Given the description of an element on the screen output the (x, y) to click on. 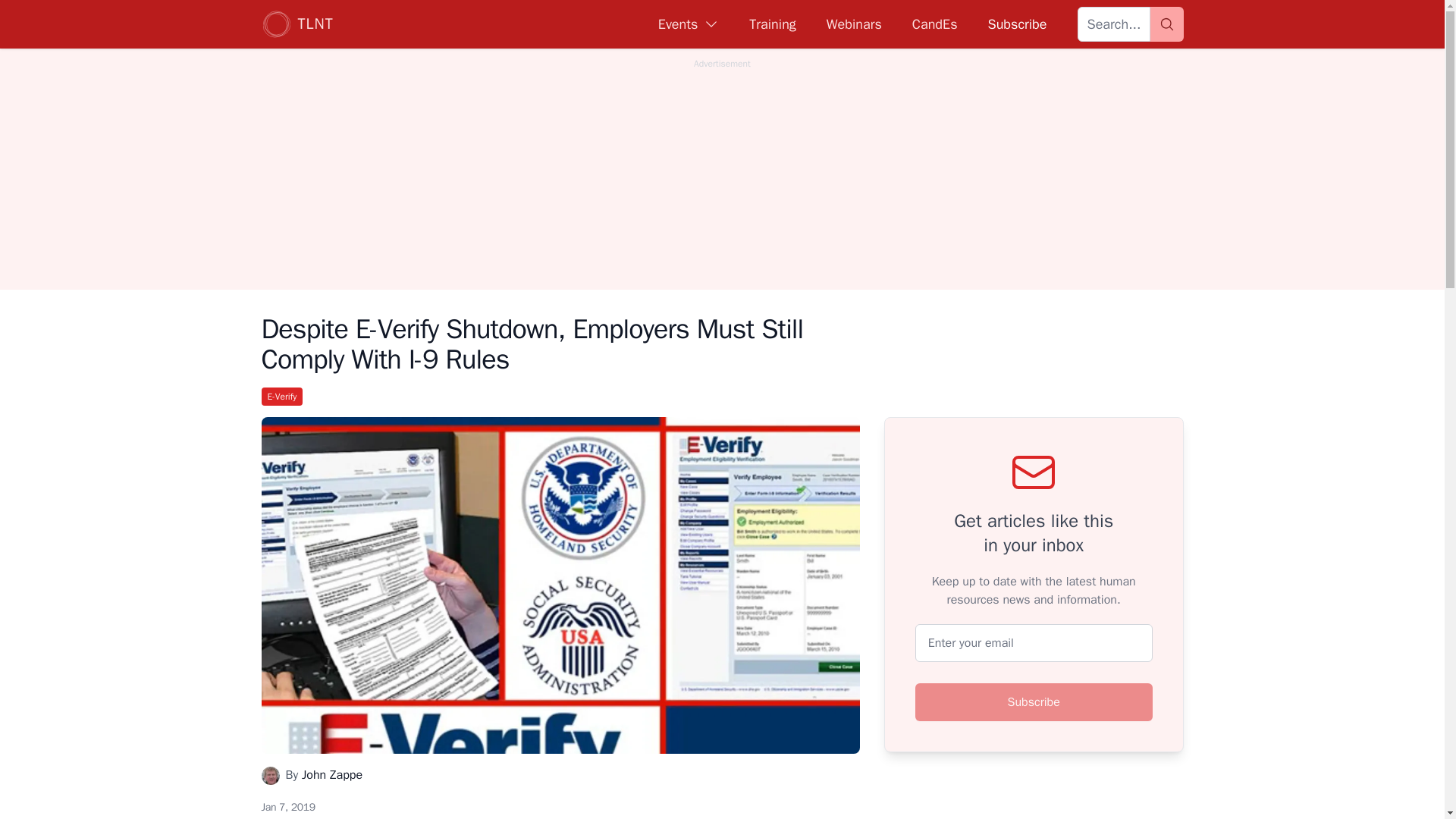
John Zappe (331, 774)
TLNT (296, 24)
Training (771, 24)
Webinars (854, 24)
E-Verify (281, 396)
Subscribe (1034, 702)
Events (688, 24)
CandEs (935, 24)
Subscribe (1016, 24)
